Given the description of an element on the screen output the (x, y) to click on. 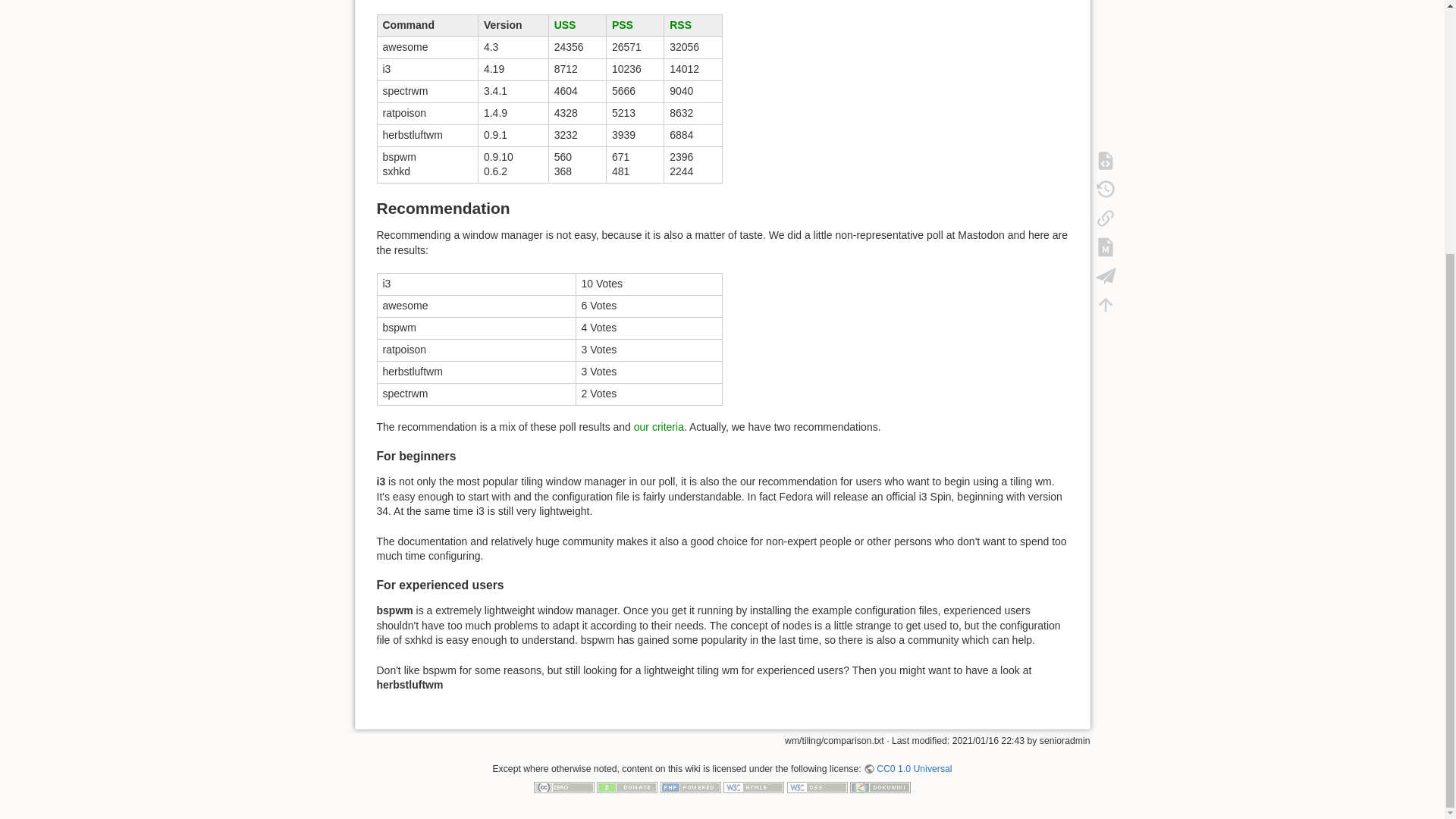
USS (565, 24)
RSS (680, 24)
PSS (622, 24)
CC0 1.0 Universal (907, 768)
our criteria (658, 426)
